Given the description of an element on the screen output the (x, y) to click on. 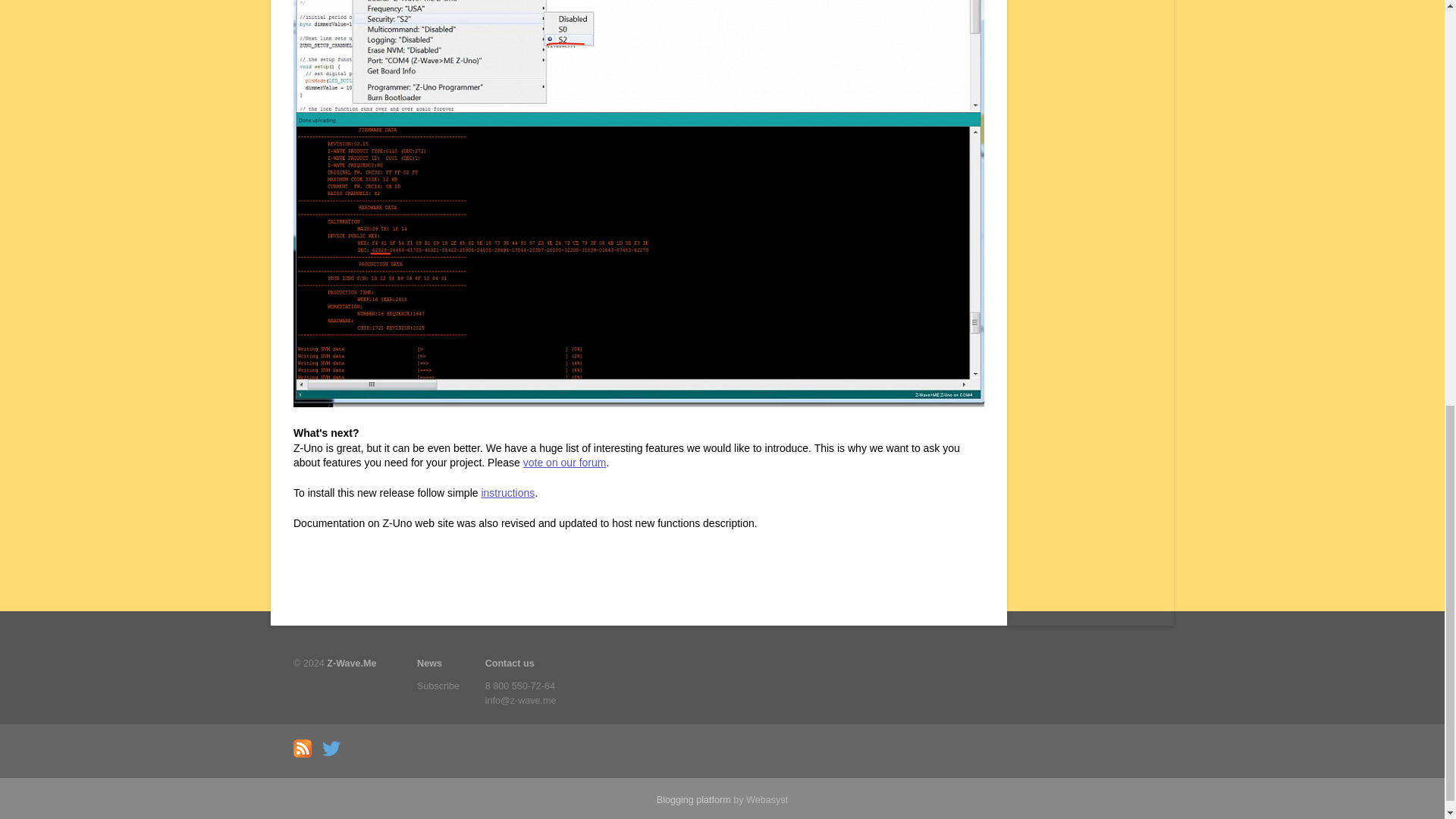
vote on our forum (564, 462)
Contact us (520, 663)
Twitter (334, 754)
News (438, 663)
instructions (507, 492)
RSS (306, 754)
Z-Wave.Me (350, 663)
Blogging platform (693, 799)
Subscribe (438, 686)
